Given the description of an element on the screen output the (x, y) to click on. 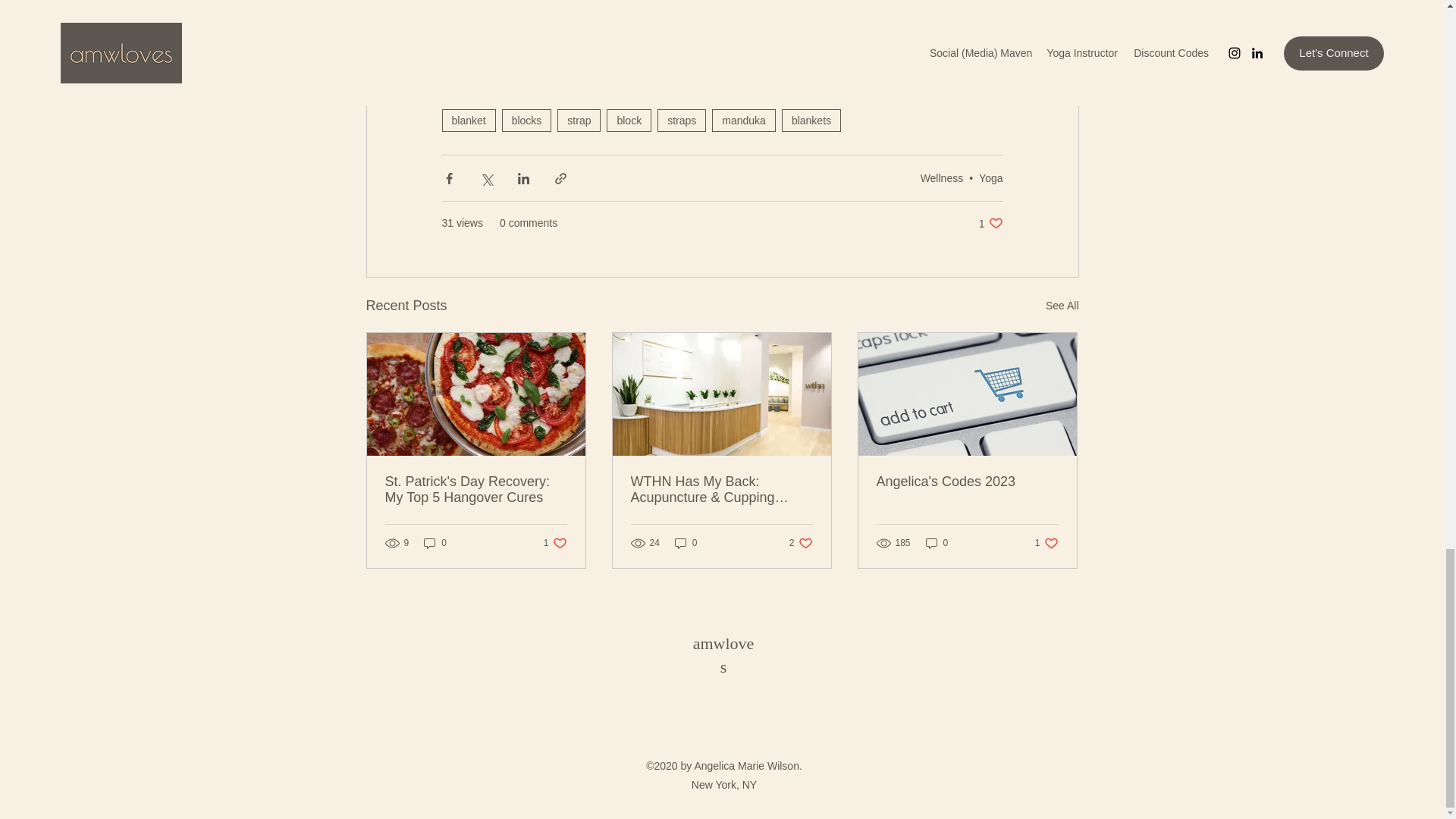
strap (578, 119)
blanket (468, 119)
block (628, 119)
blocks (526, 119)
